Given the description of an element on the screen output the (x, y) to click on. 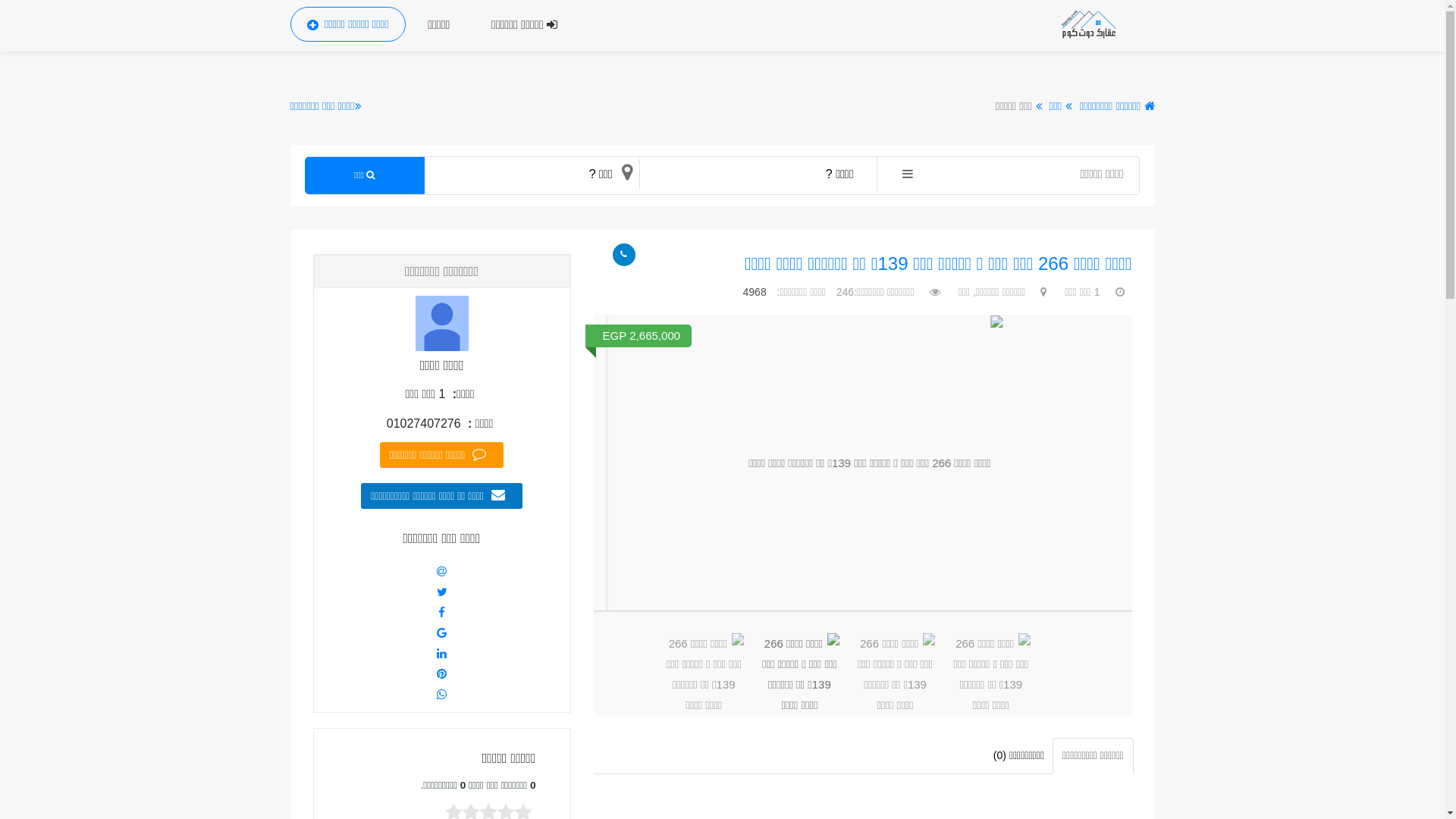
4968 Element type: text (756, 291)
01027407276 Element type: text (423, 423)
